Given the description of an element on the screen output the (x, y) to click on. 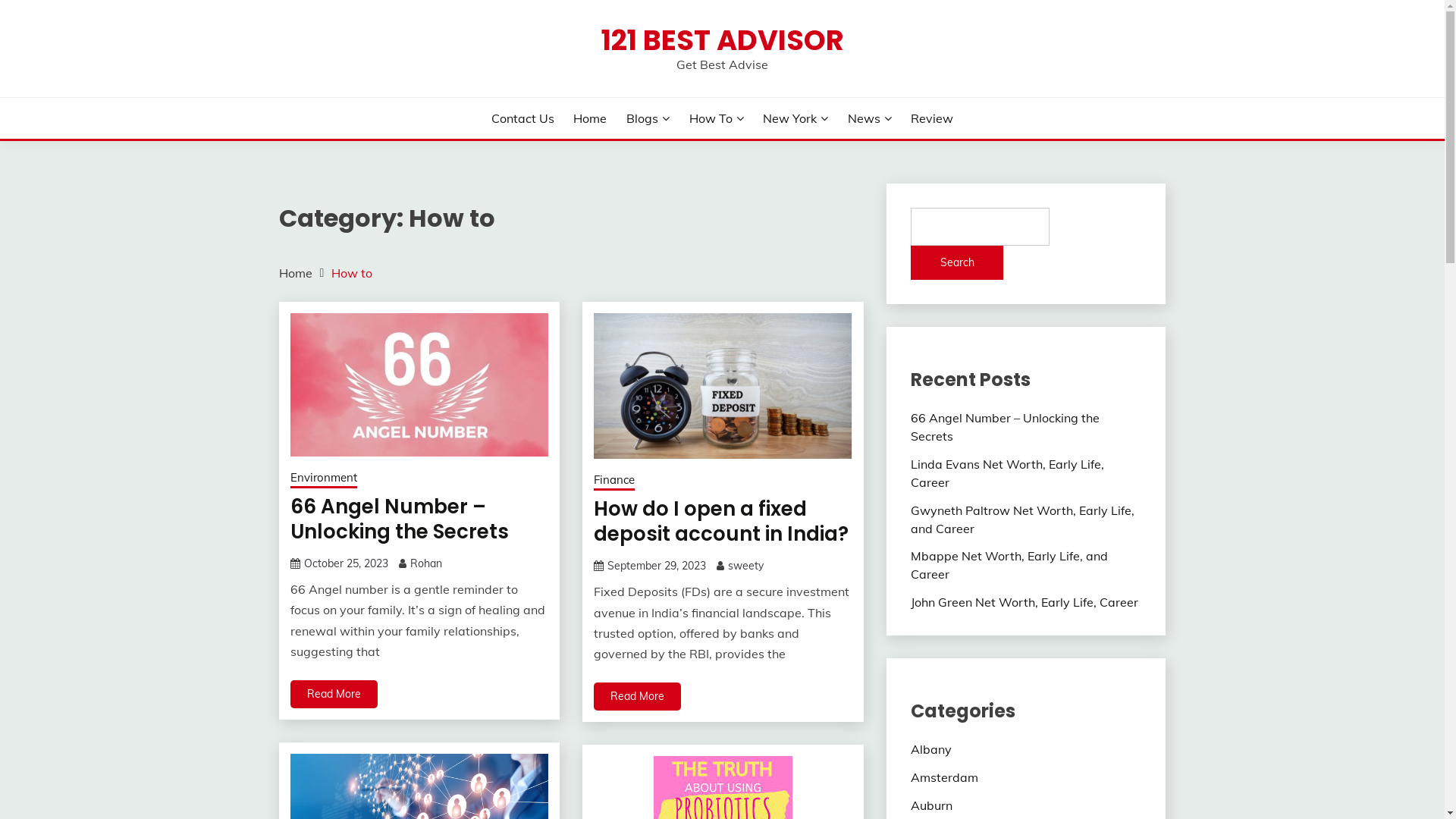
Environment Element type: text (322, 479)
121 BEST ADVISOR Element type: text (721, 39)
Search Element type: text (956, 262)
Contact Us Element type: text (522, 118)
Amsterdam Element type: text (944, 776)
Gwyneth Paltrow Net Worth, Early Life, and Career Element type: text (1022, 519)
Rohan Element type: text (425, 563)
Blogs Element type: text (647, 118)
Home Element type: text (589, 118)
Read More Element type: text (636, 696)
Auburn Element type: text (931, 804)
Linda Evans Net Worth, Early Life, Career Element type: text (1007, 472)
News Element type: text (869, 118)
How To Element type: text (715, 118)
How do I open a fixed deposit account in India? Element type: text (720, 521)
Home Element type: text (295, 272)
How to Element type: text (351, 272)
September 29, 2023 Element type: text (656, 565)
sweety Element type: text (745, 565)
New York Element type: text (795, 118)
October 25, 2023 Element type: text (345, 563)
Mbappe Net Worth, Early Life, and Career Element type: text (1008, 564)
Albany Element type: text (930, 748)
Review Element type: text (931, 118)
John Green Net Worth, Early Life, Career Element type: text (1024, 601)
Read More Element type: text (332, 694)
Finance Element type: text (613, 481)
